Given the description of an element on the screen output the (x, y) to click on. 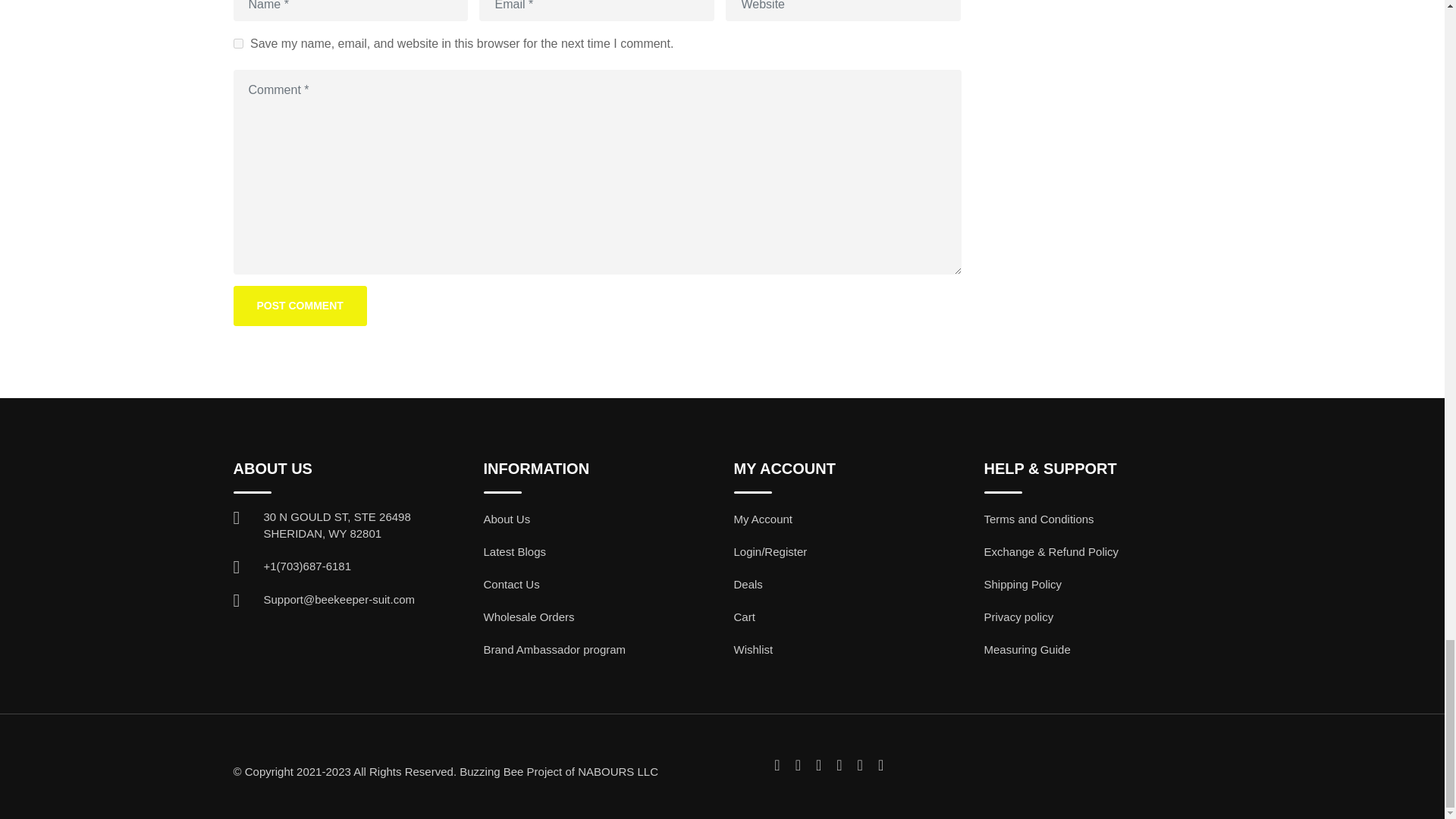
yes (237, 43)
Post Comment (299, 305)
Post Comment (299, 305)
